Given the description of an element on the screen output the (x, y) to click on. 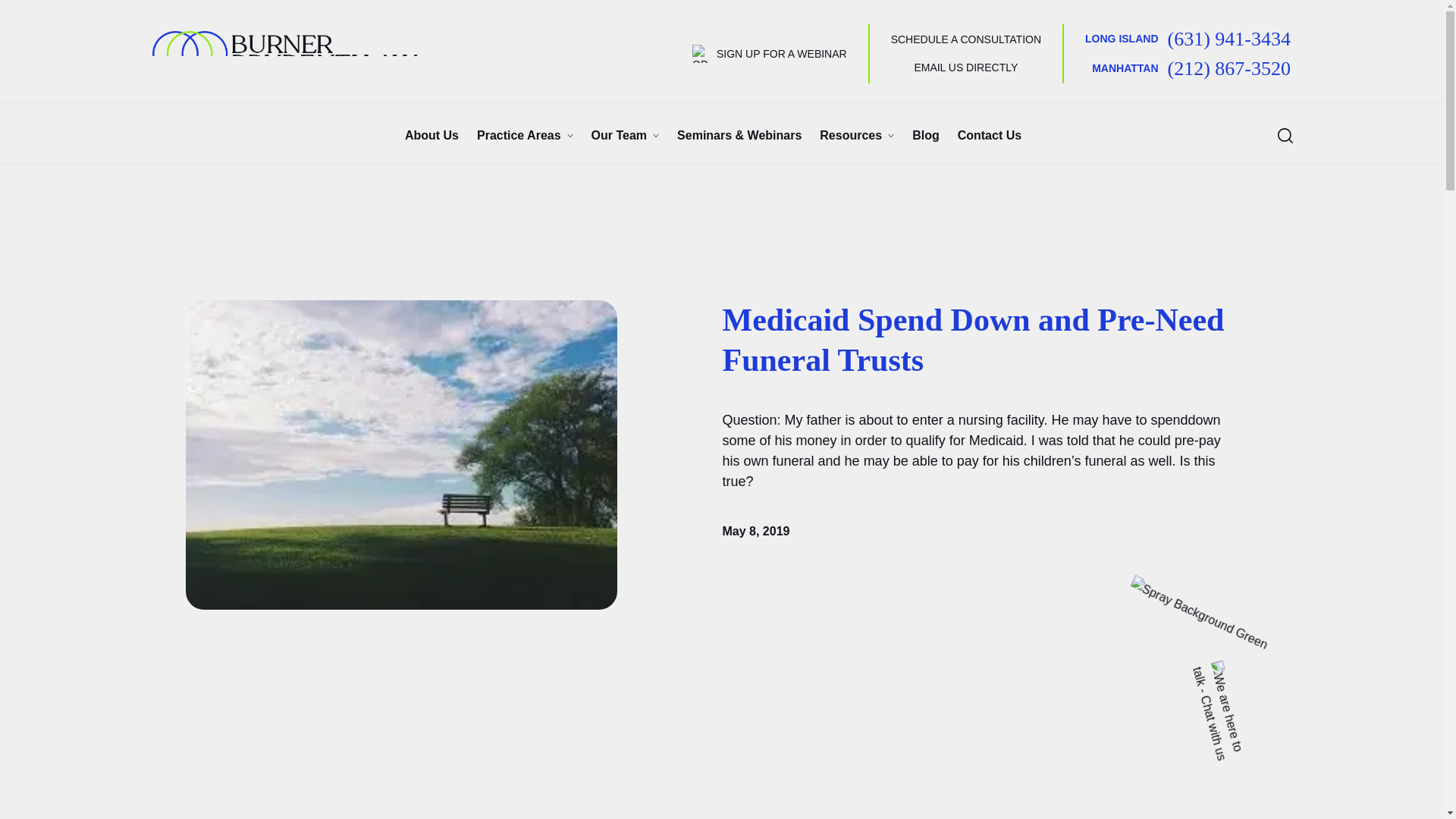
Resources (850, 135)
Practice Areas (518, 38)
SIGN UP FOR A WEBINAR (770, 53)
SCHEDULE A CONSULTATION (966, 39)
EMAIL US DIRECTLY (966, 61)
About Us (431, 38)
Our Team (619, 135)
